Given the description of an element on the screen output the (x, y) to click on. 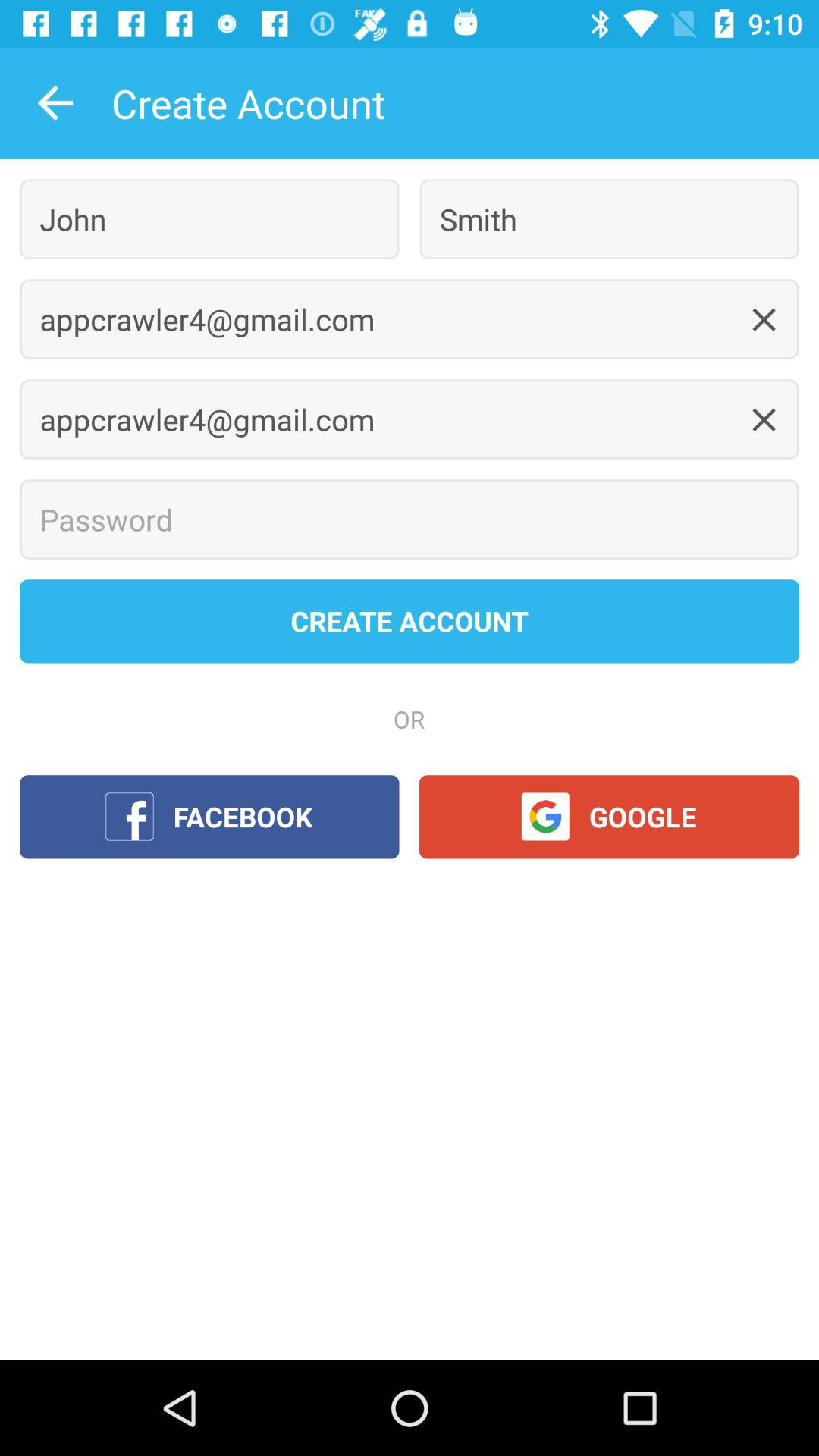
tap john (209, 219)
